Given the description of an element on the screen output the (x, y) to click on. 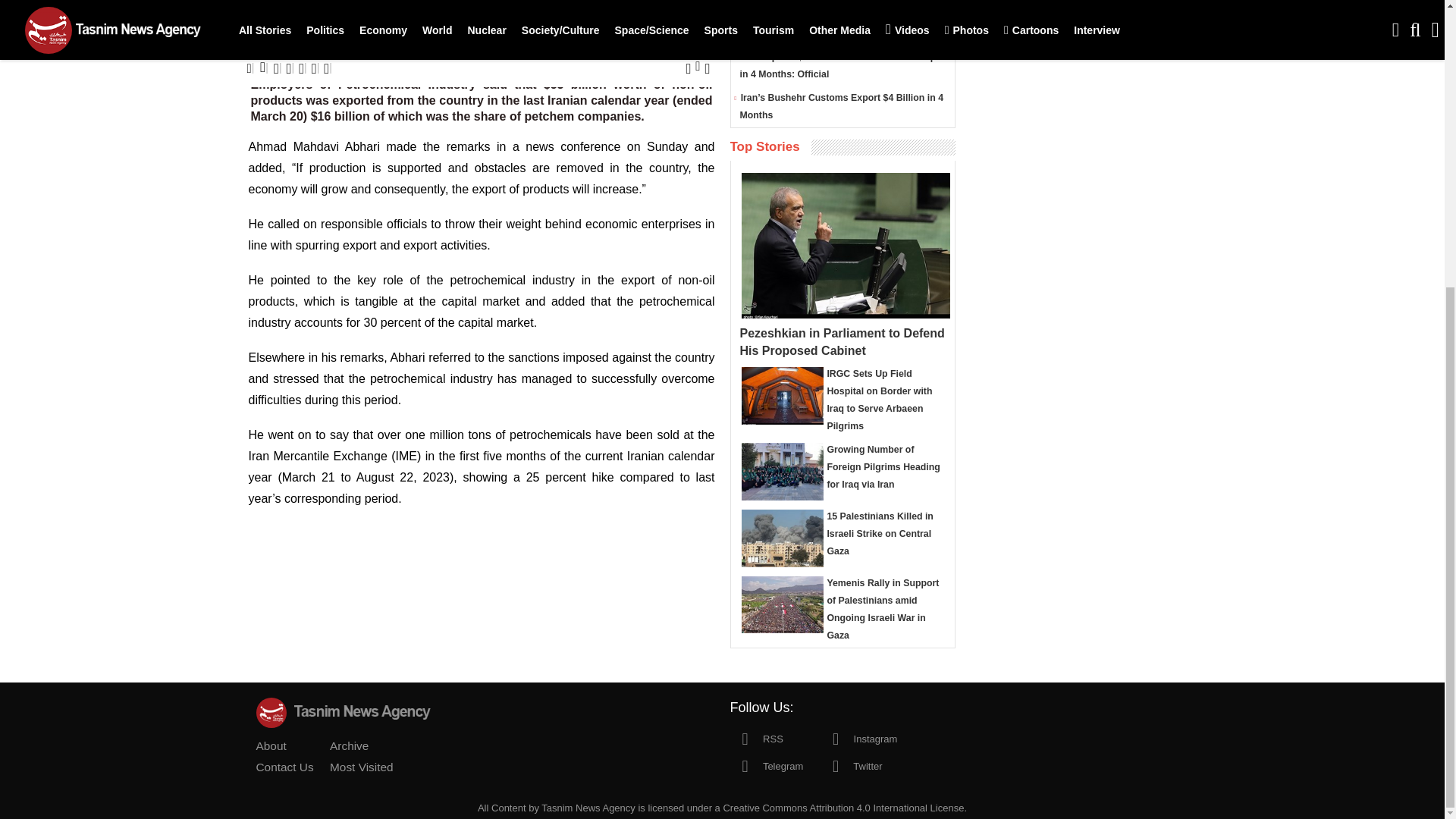
RSS (756, 737)
Telegram (766, 765)
Instagram (858, 737)
Twitter (851, 765)
